Given the description of an element on the screen output the (x, y) to click on. 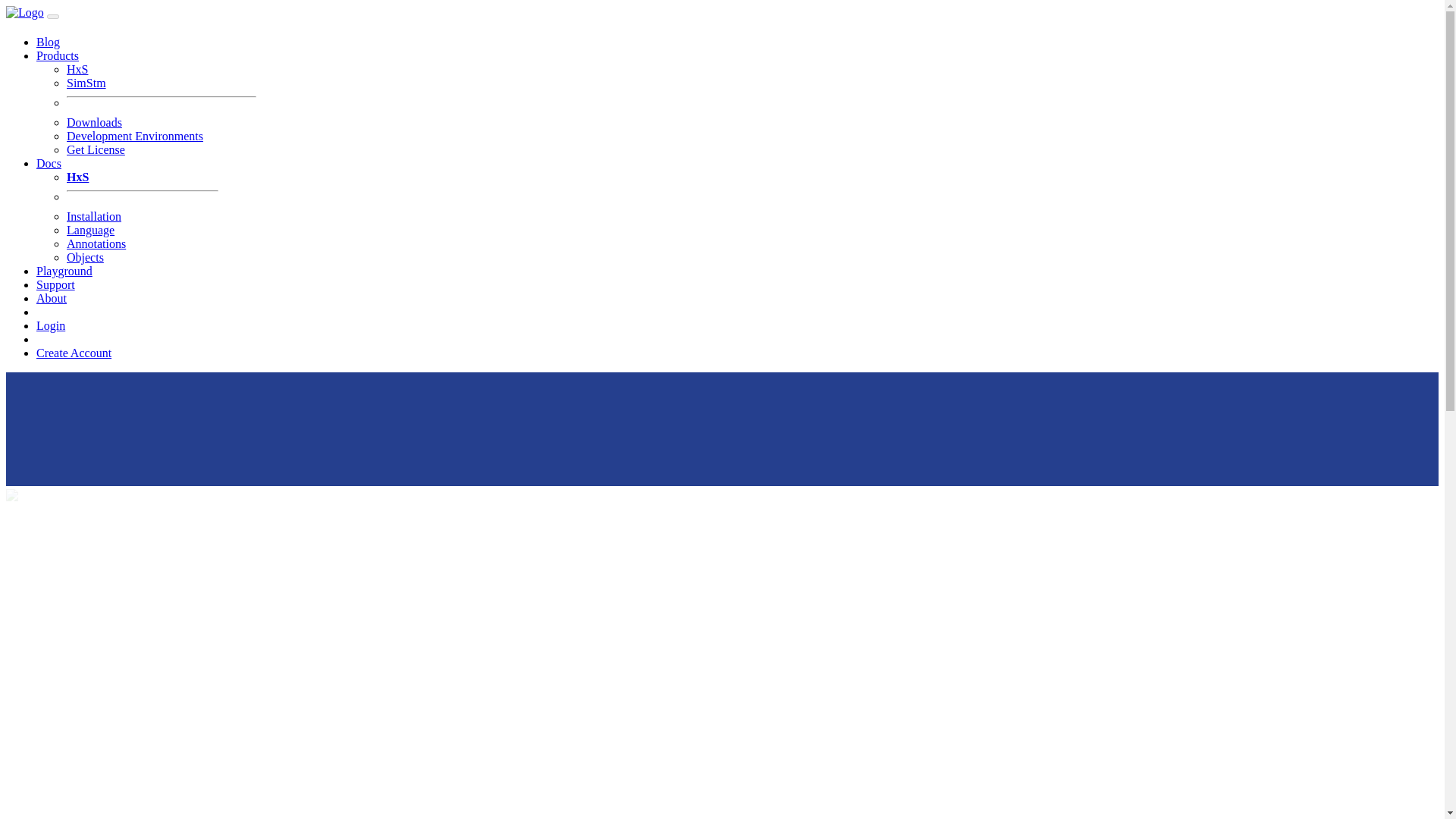
Docs (48, 163)
Support (55, 284)
Login (50, 325)
Playground (64, 270)
Blog (47, 42)
Language (90, 229)
Installation (93, 215)
Create Account (74, 352)
HxS (77, 176)
About (51, 297)
Get License (95, 149)
Objects (84, 256)
Products (57, 55)
Annotations (95, 243)
HxS (76, 69)
